Given the description of an element on the screen output the (x, y) to click on. 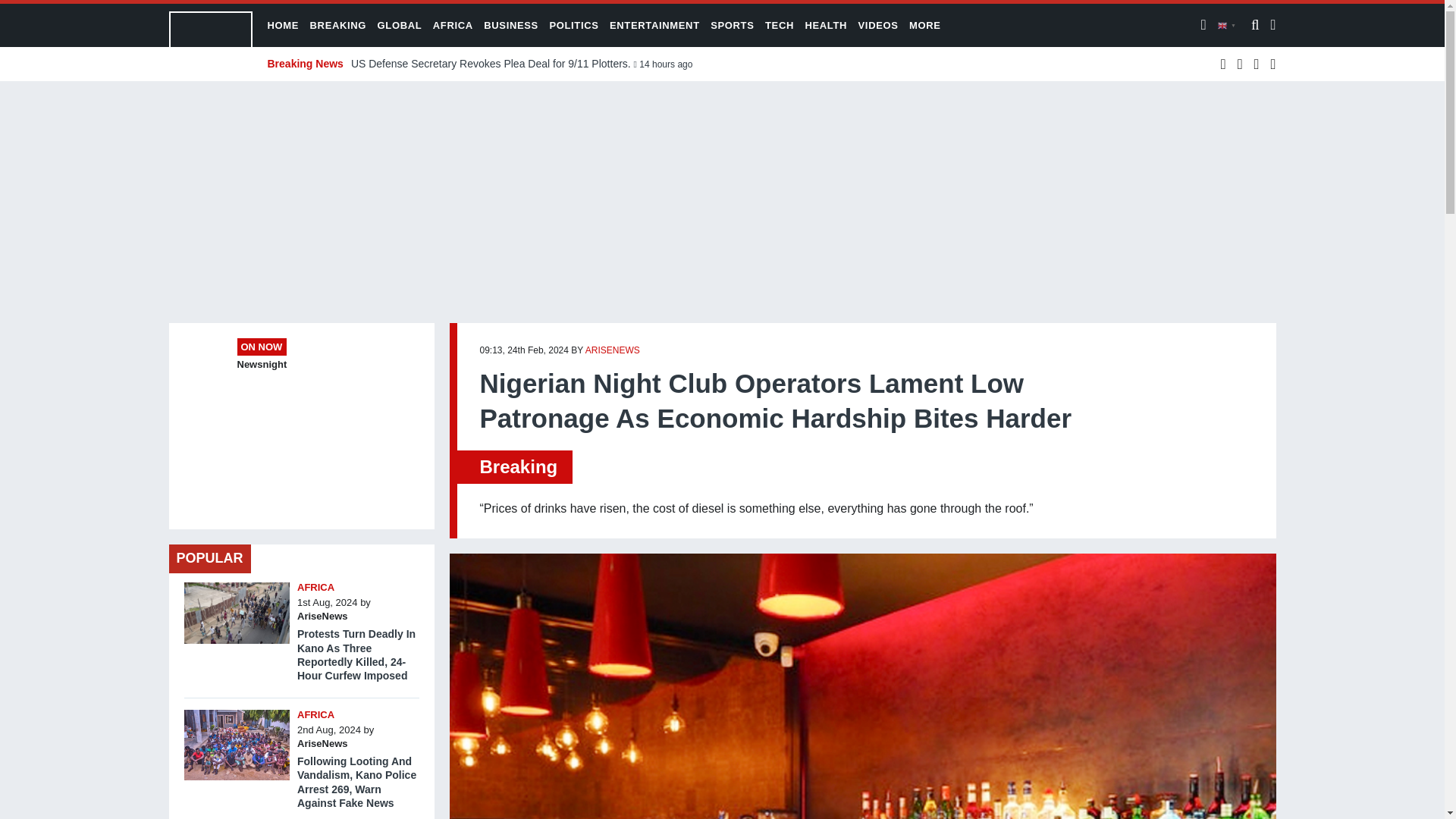
Posts by AriseNews (322, 743)
AFRICA (315, 714)
AriseNews (322, 743)
ARISENEWS (612, 349)
AFRICA (315, 586)
AriseNews (322, 615)
Posts by AriseNews (322, 615)
Breaking (518, 466)
Posts by AriseNews (612, 349)
